Given the description of an element on the screen output the (x, y) to click on. 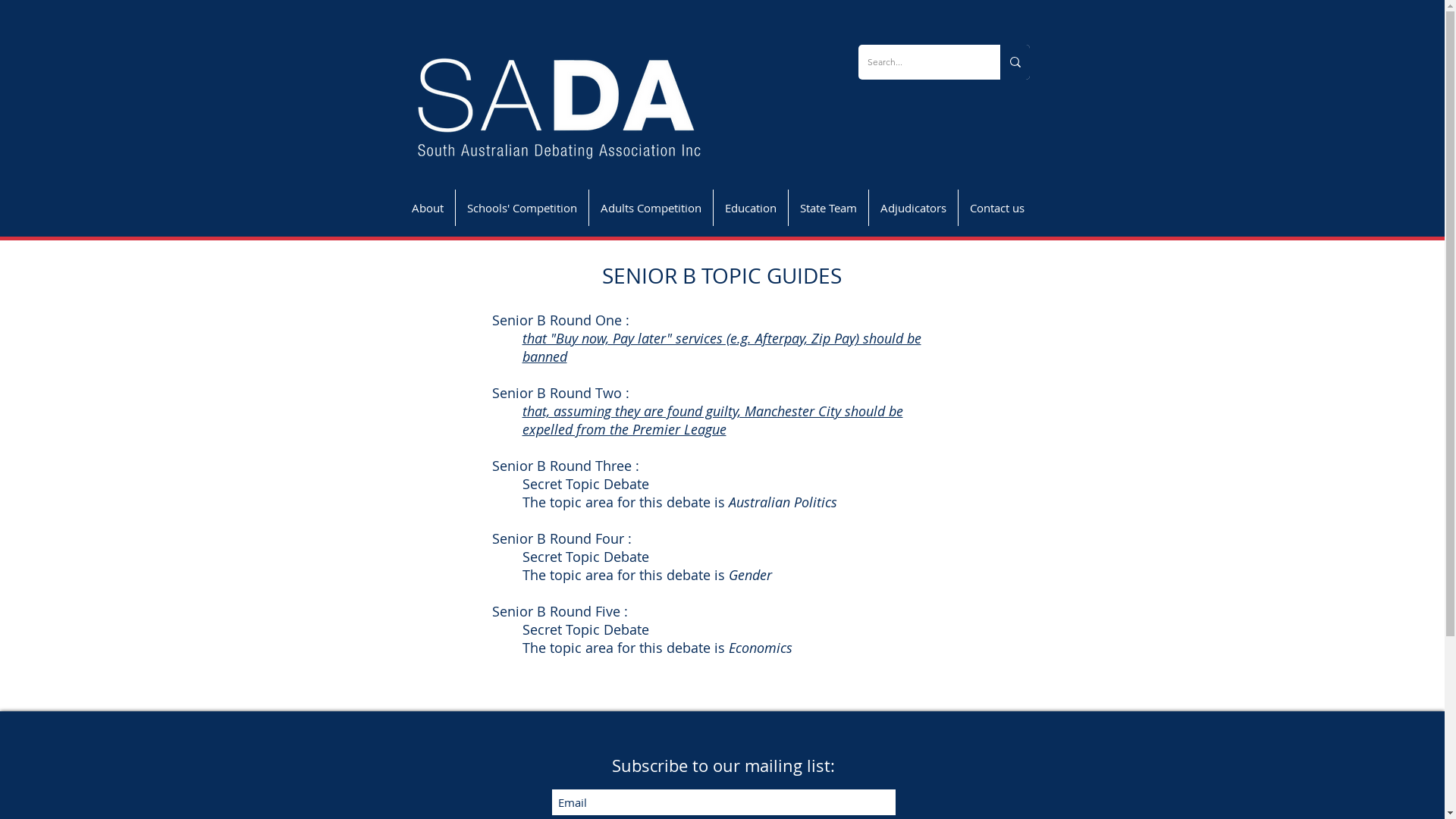
Contact us Element type: text (996, 207)
About Element type: text (427, 207)
Adults Competition Element type: text (650, 207)
